Given the description of an element on the screen output the (x, y) to click on. 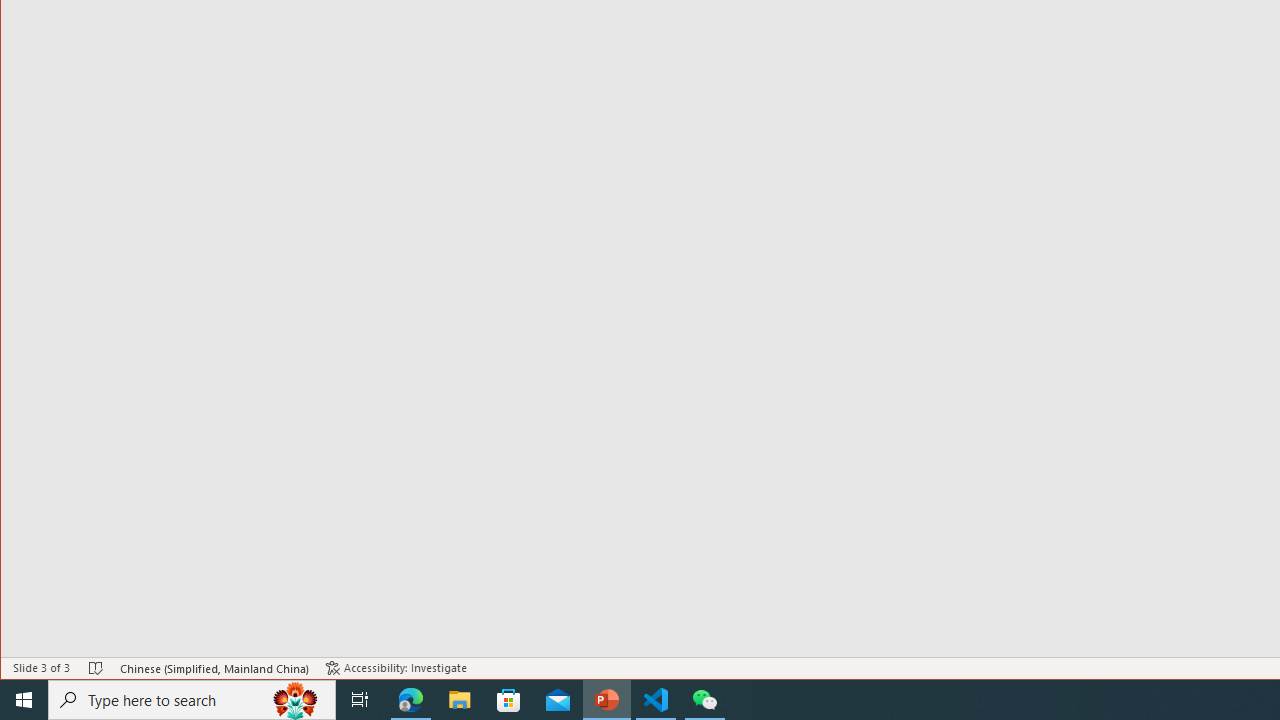
WeChat - 1 running window (704, 699)
